Given the description of an element on the screen output the (x, y) to click on. 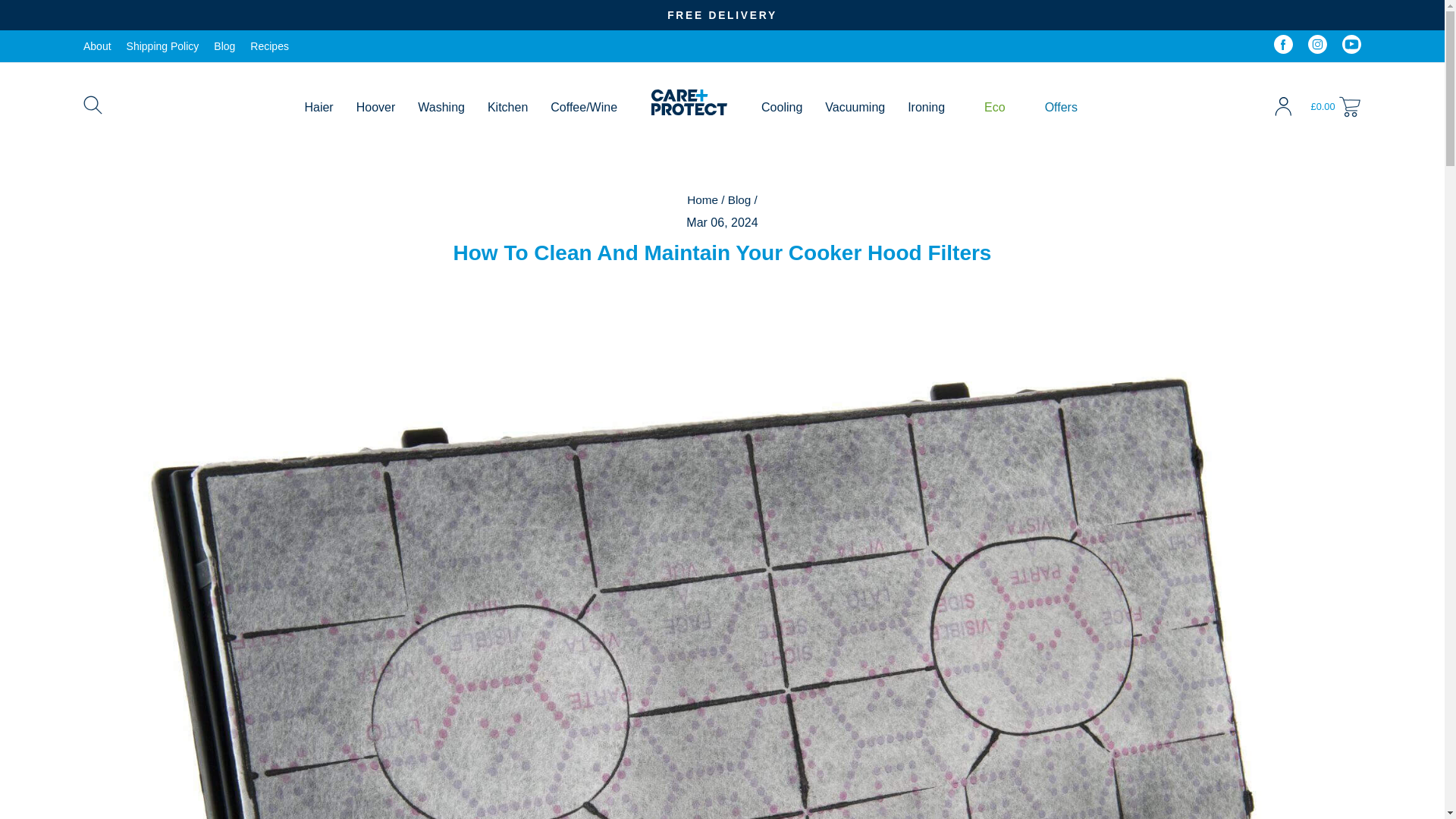
MyCarePlusProtect on Facebook (1283, 45)
Back to the frontpage (702, 199)
MyCarePlusProtect on YouTube (1351, 45)
MyCarePlusProtect on Instagram (1316, 45)
